Given the description of an element on the screen output the (x, y) to click on. 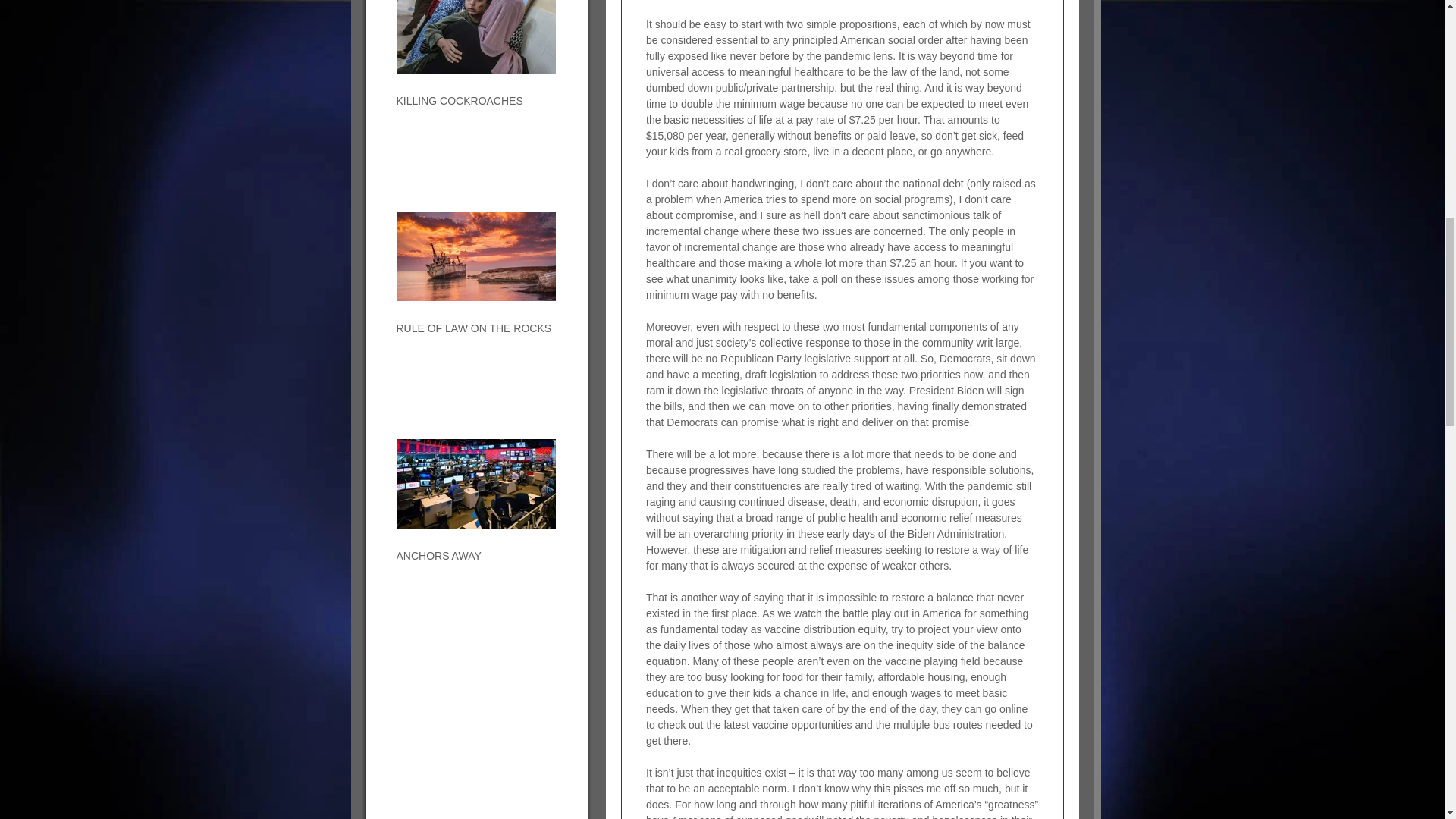
RULE OF LAW ON THE ROCKS (475, 328)
KILLING COCKROACHES (475, 101)
ANCHORS AWAY (475, 555)
